Given the description of an element on the screen output the (x, y) to click on. 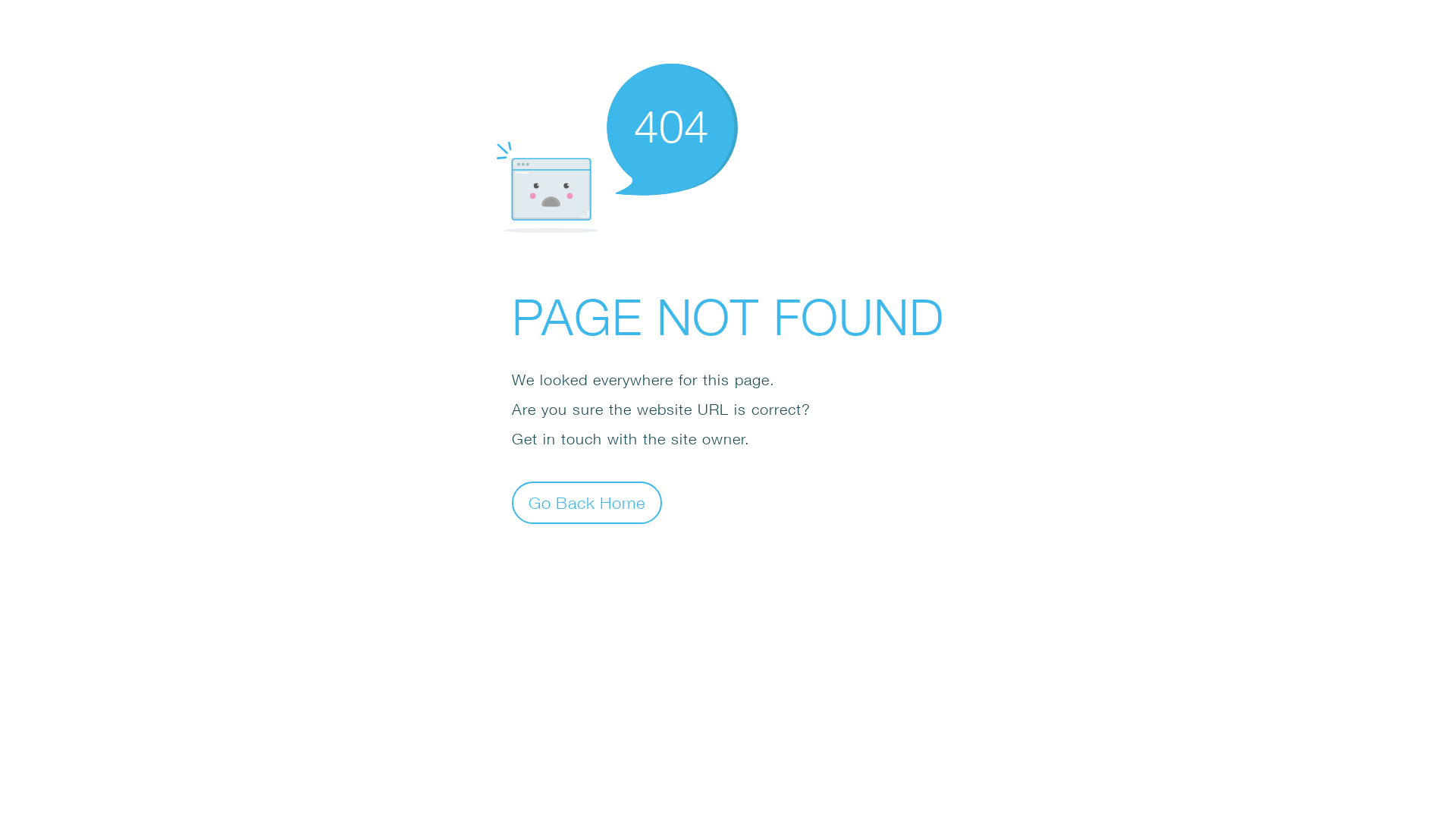
Go Back Home Element type: text (586, 502)
